Given the description of an element on the screen output the (x, y) to click on. 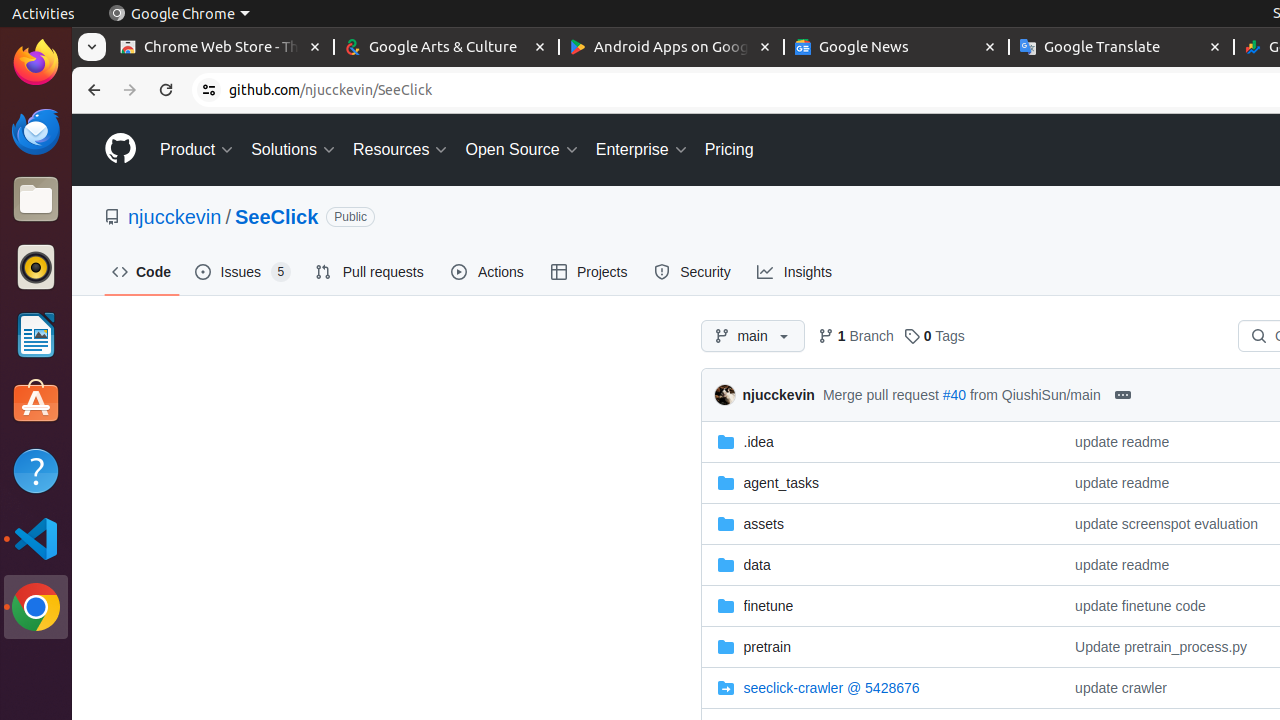
Reload Element type: push-button (166, 90)
Google Arts & Culture - Memory usage - 60.0 MB Element type: page-tab (446, 47)
seeclick-crawler, (Submodule) Element type: link (831, 687)
Help Element type: push-button (36, 470)
from QiushiSun/main Element type: link (1035, 394)
